Given the description of an element on the screen output the (x, y) to click on. 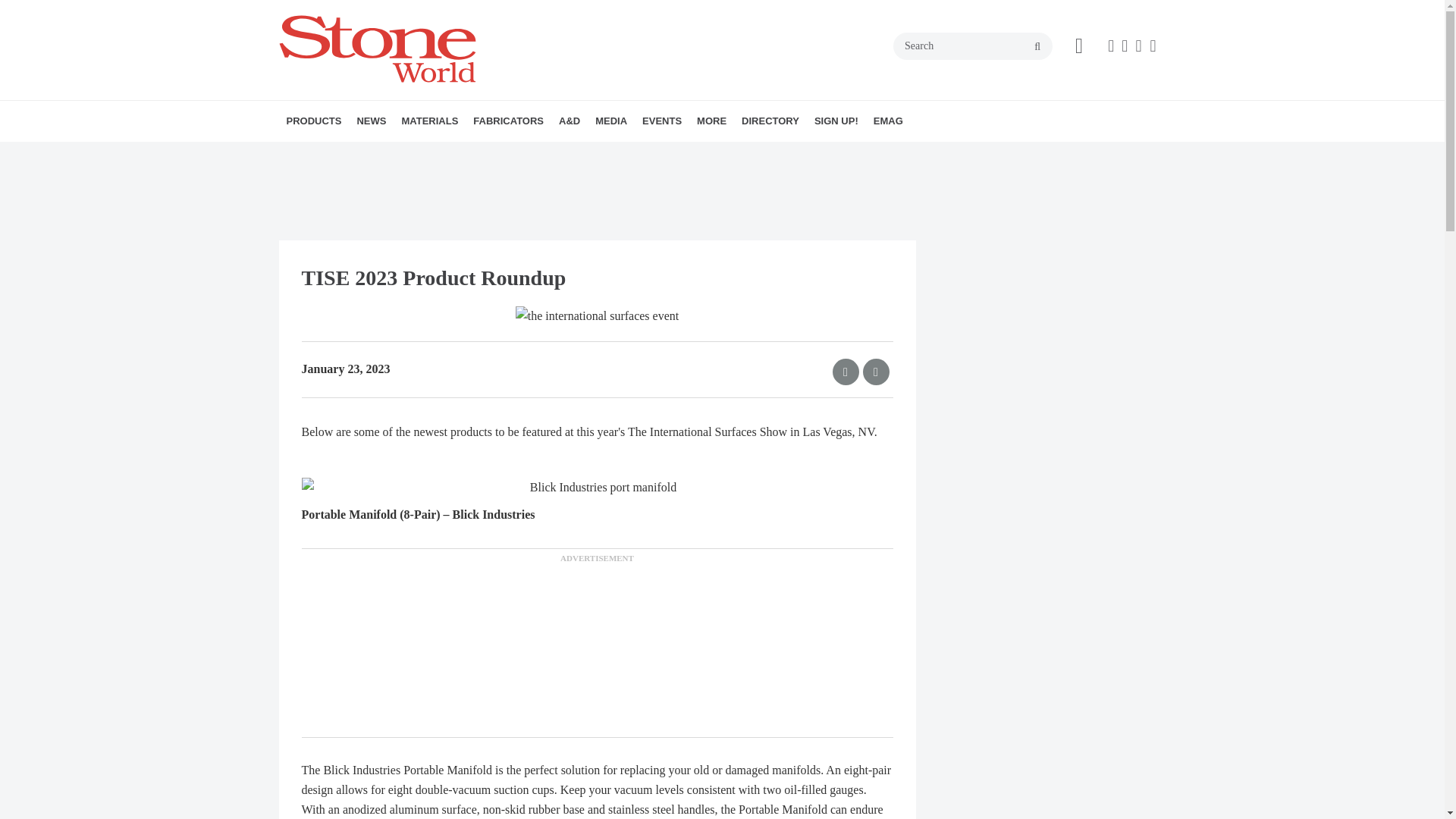
RESIDENTIAL (679, 154)
DIGITAL TECHNOLOGY (380, 154)
search (1037, 46)
MATERIALS (429, 120)
ALTERNATIVE SURFACES (488, 154)
INTERIOR DESIGN (659, 154)
EBOOK (695, 154)
FABRICATORS (508, 120)
NEWS (371, 120)
Search (972, 45)
TILE (501, 154)
PODCASTS (689, 154)
FABRICATOR HOW-TO (560, 154)
FABRICATOR CASE STUDIES (567, 154)
PRODUCTS (314, 120)
